Given the description of an element on the screen output the (x, y) to click on. 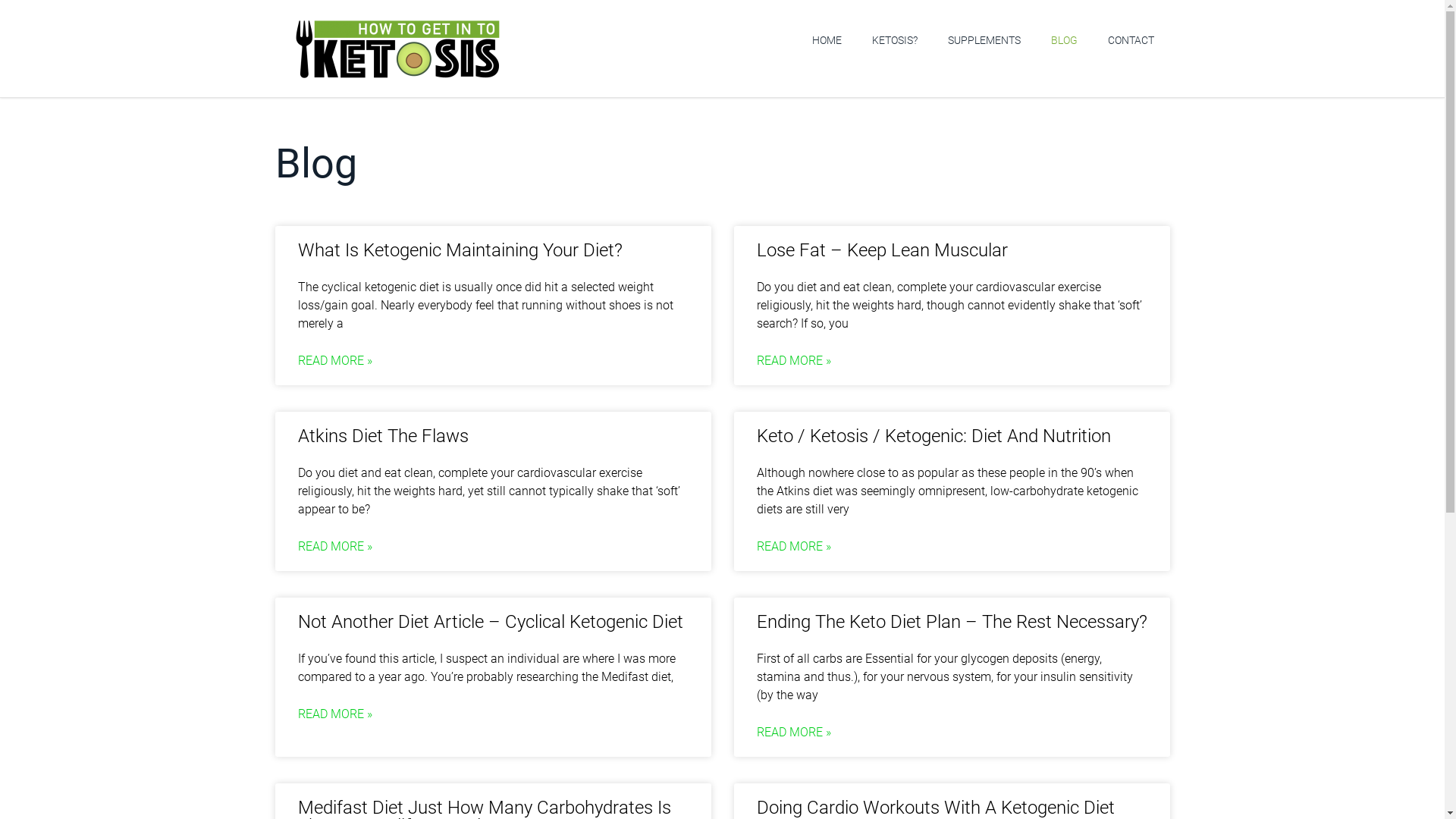
Atkins Diet The Flaws Element type: text (382, 435)
HOME Element type: text (826, 39)
KETOSIS? Element type: text (894, 39)
Doing Cardio Workouts With A Ketogenic Diet Element type: text (935, 807)
BLOG Element type: text (1063, 39)
SUPPLEMENTS Element type: text (983, 39)
What Is Ketogenic Maintaining Your Diet? Element type: text (459, 249)
Keto / Ketosis / Ketogenic: Diet And Nutrition Element type: text (933, 435)
CONTACT Element type: text (1130, 39)
